Given the description of an element on the screen output the (x, y) to click on. 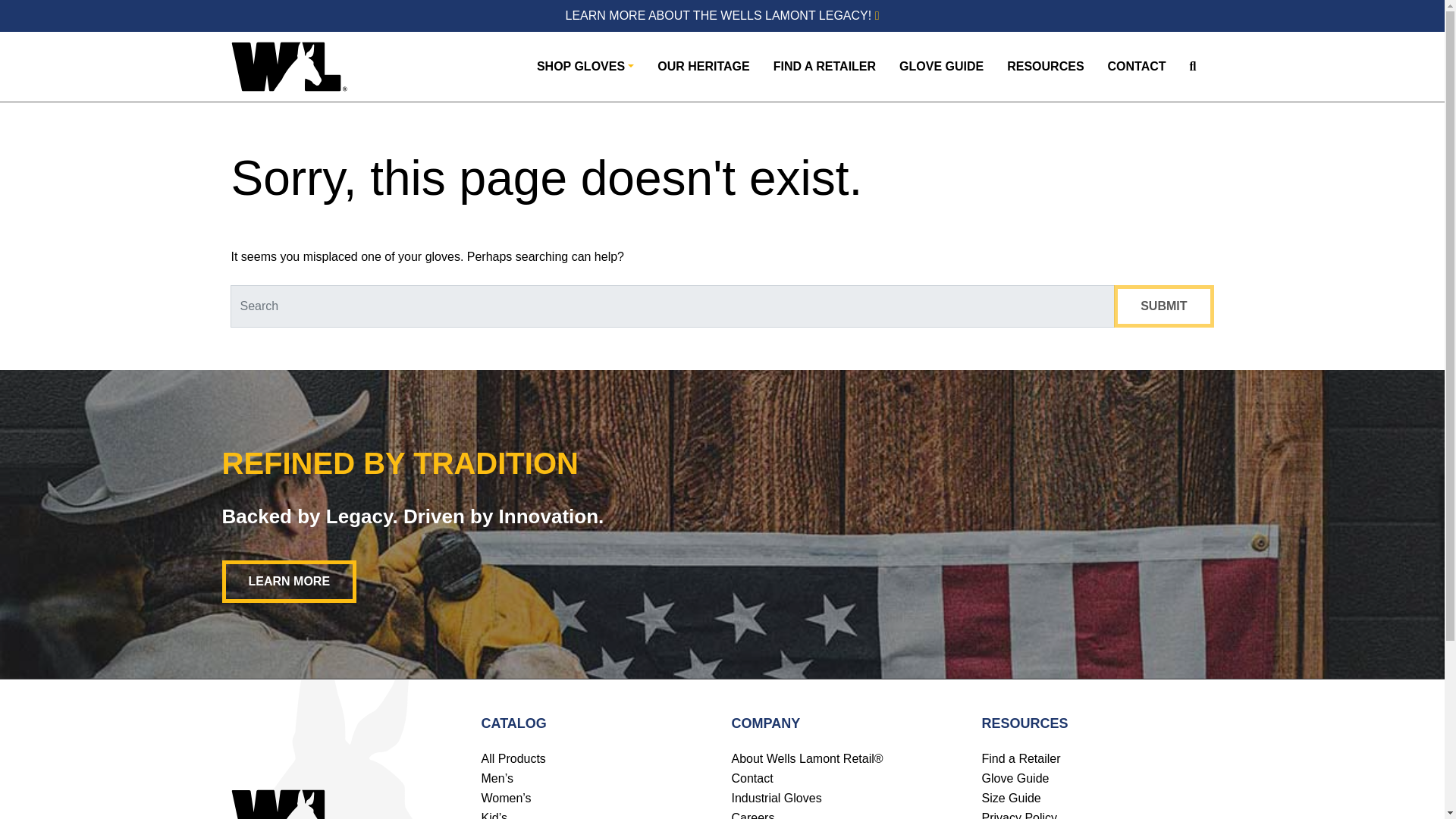
Submit (1162, 306)
LEARN MORE ABOUT THE WELLS LAMONT LEGACY! (722, 15)
SHOP GLOVES (585, 66)
